Given the description of an element on the screen output the (x, y) to click on. 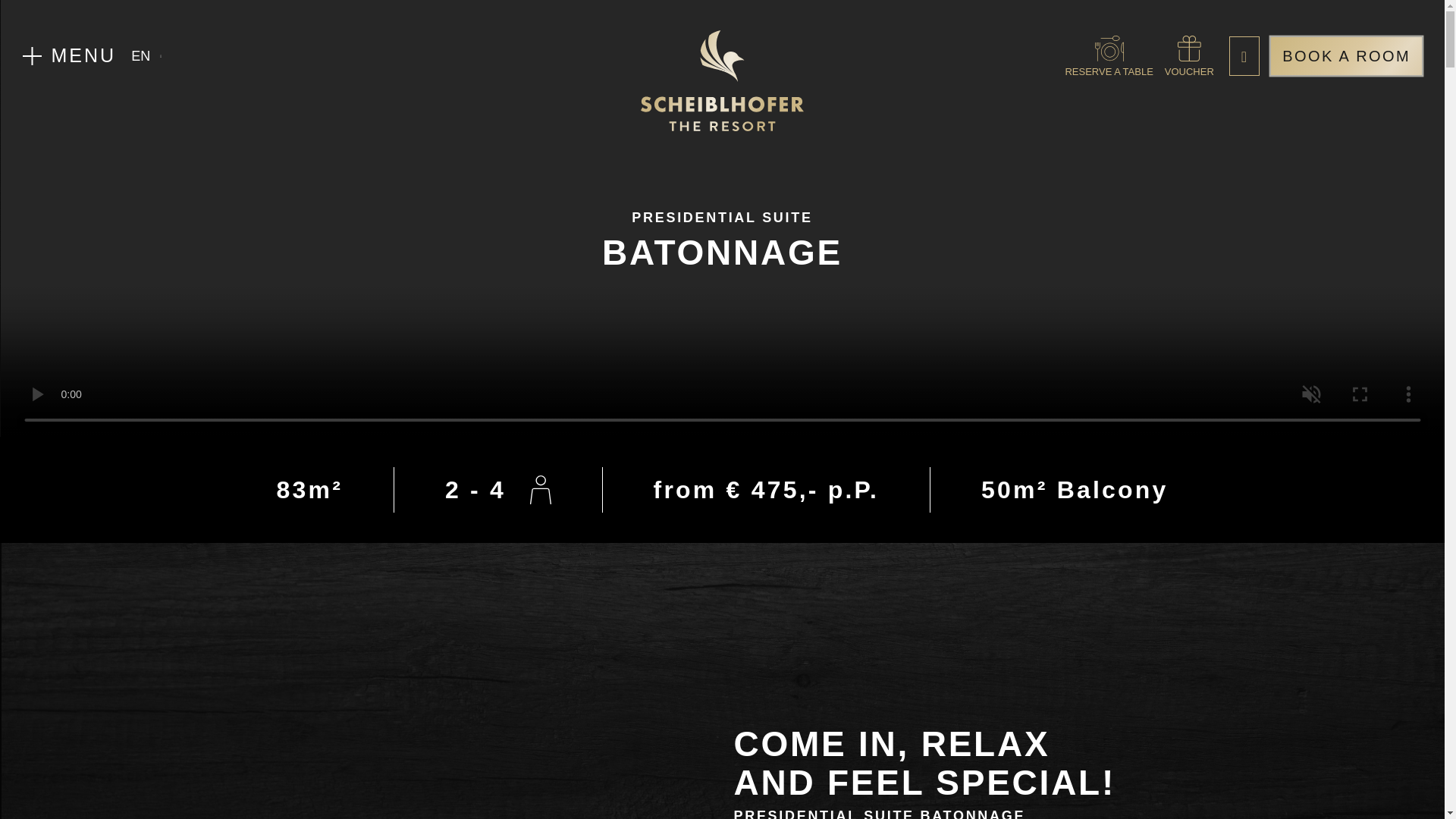
BOOK A ROOM (1346, 55)
